Given the description of an element on the screen output the (x, y) to click on. 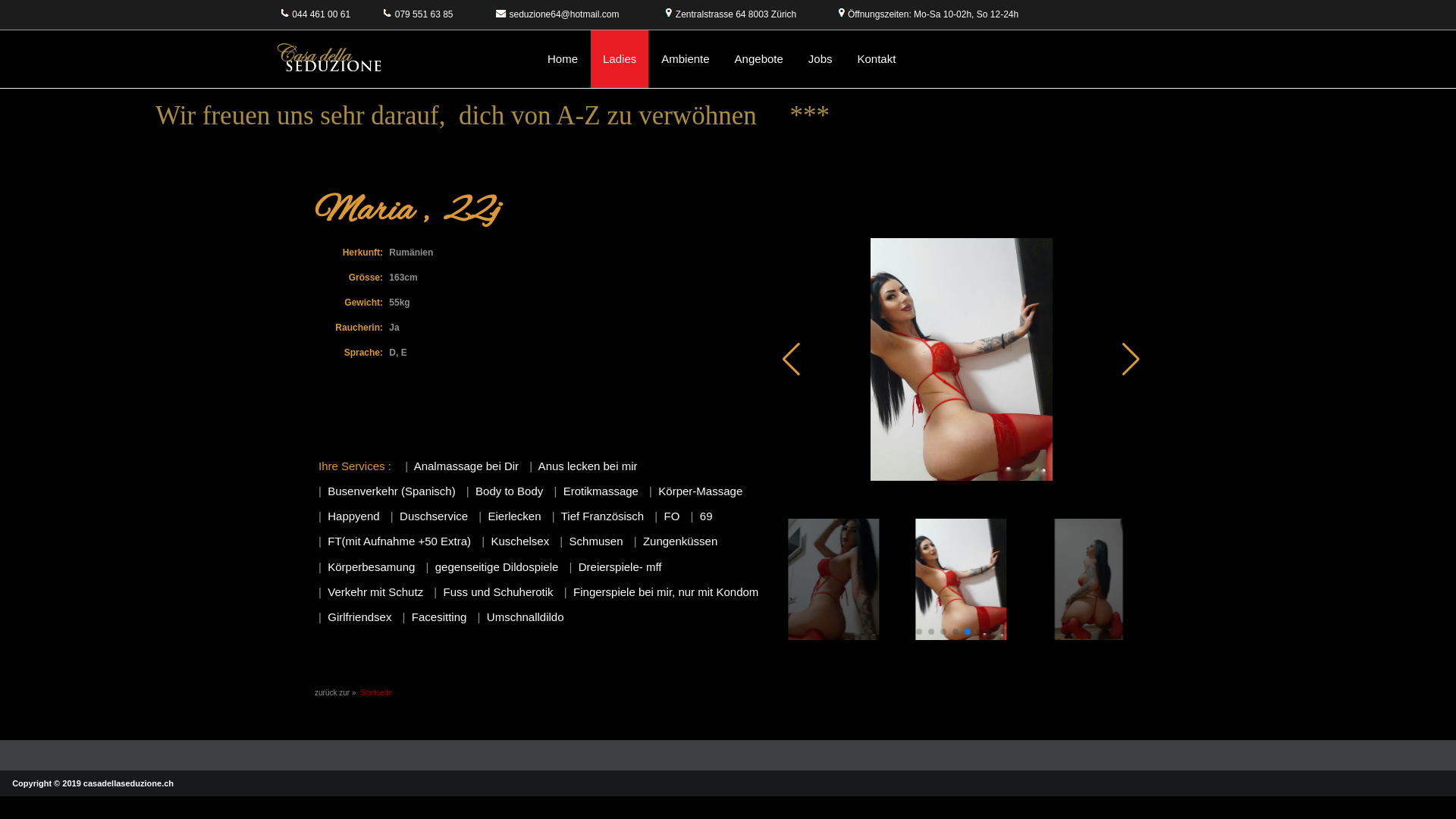
Fingerspiele bei mir, nur mit Kondom  Element type: text (666, 591)
Kuschelsex  Element type: text (519, 540)
Analmassage bei Dir  Element type: text (466, 465)
Erotikmassage  Element type: text (601, 490)
Umschnalldildo  Element type: text (525, 616)
Happyend  Element type: text (353, 515)
Kontakt Element type: text (876, 58)
Ladies Element type: text (619, 58)
Ambiente Element type: text (685, 58)
Startseite Element type: text (376, 692)
Facesitting  Element type: text (439, 616)
Anus lecken bei mir  Element type: text (587, 465)
Duschservice  Element type: text (433, 515)
Jobs Element type: text (820, 58)
FT(mit Aufnahme +50 Extra)  Element type: text (398, 540)
Busenverkehr (Spanisch)  Element type: text (391, 490)
Home Element type: text (562, 58)
Angebote Element type: text (758, 58)
Schmusen  Element type: text (595, 540)
Girlfriendsex  Element type: text (359, 616)
Eierlecken  Element type: text (513, 515)
69  Element type: text (705, 515)
Body to Body  Element type: text (509, 490)
Verkehr mit Schutz  Element type: text (375, 591)
Dreierspiele- mff  Element type: text (620, 566)
FO  Element type: text (671, 515)
Fuss und Schuherotik  Element type: text (497, 591)
gegenseitige Dildospiele  Element type: text (496, 566)
